Given the description of an element on the screen output the (x, y) to click on. 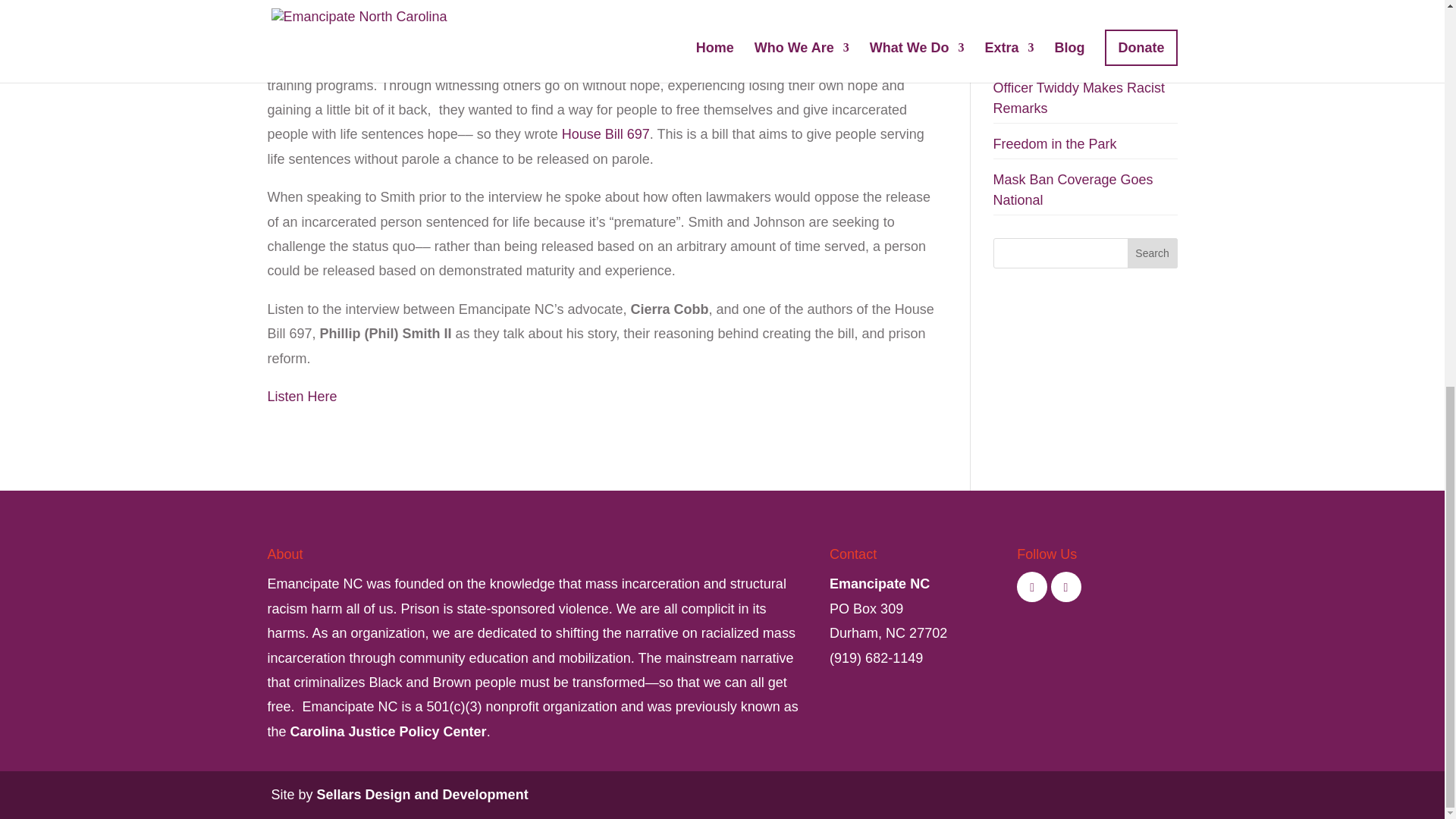
House Bill 697 (605, 133)
Search (1151, 253)
Listen Here (301, 396)
